Given the description of an element on the screen output the (x, y) to click on. 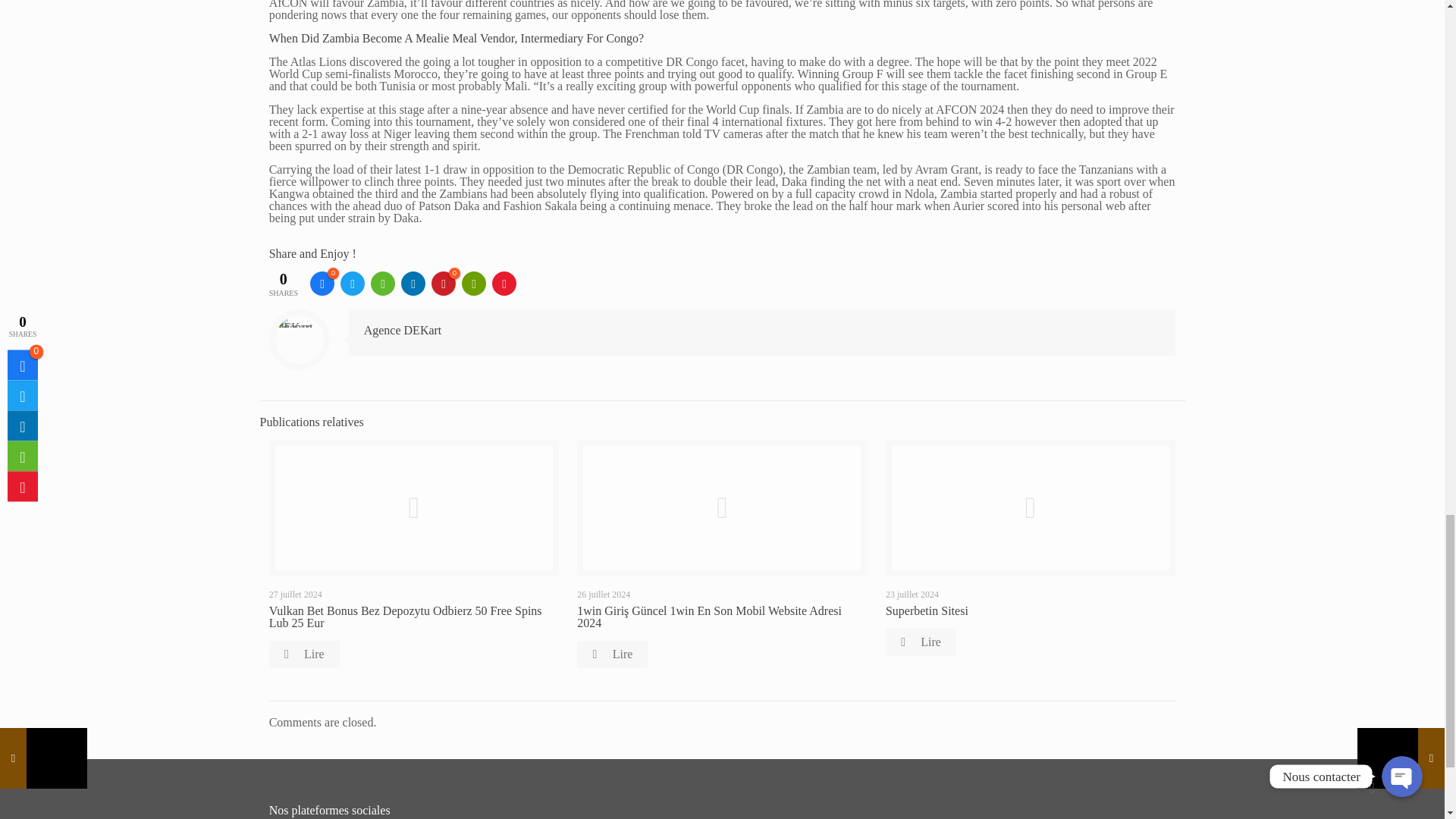
Submit this to Pinterest (442, 283)
WhatsApp (382, 283)
Convert to PDF (504, 283)
Tweet this ! (352, 283)
Print this article  (473, 283)
Add this to LinkedIn (413, 283)
Share this on Facebook (322, 283)
